Given the description of an element on the screen output the (x, y) to click on. 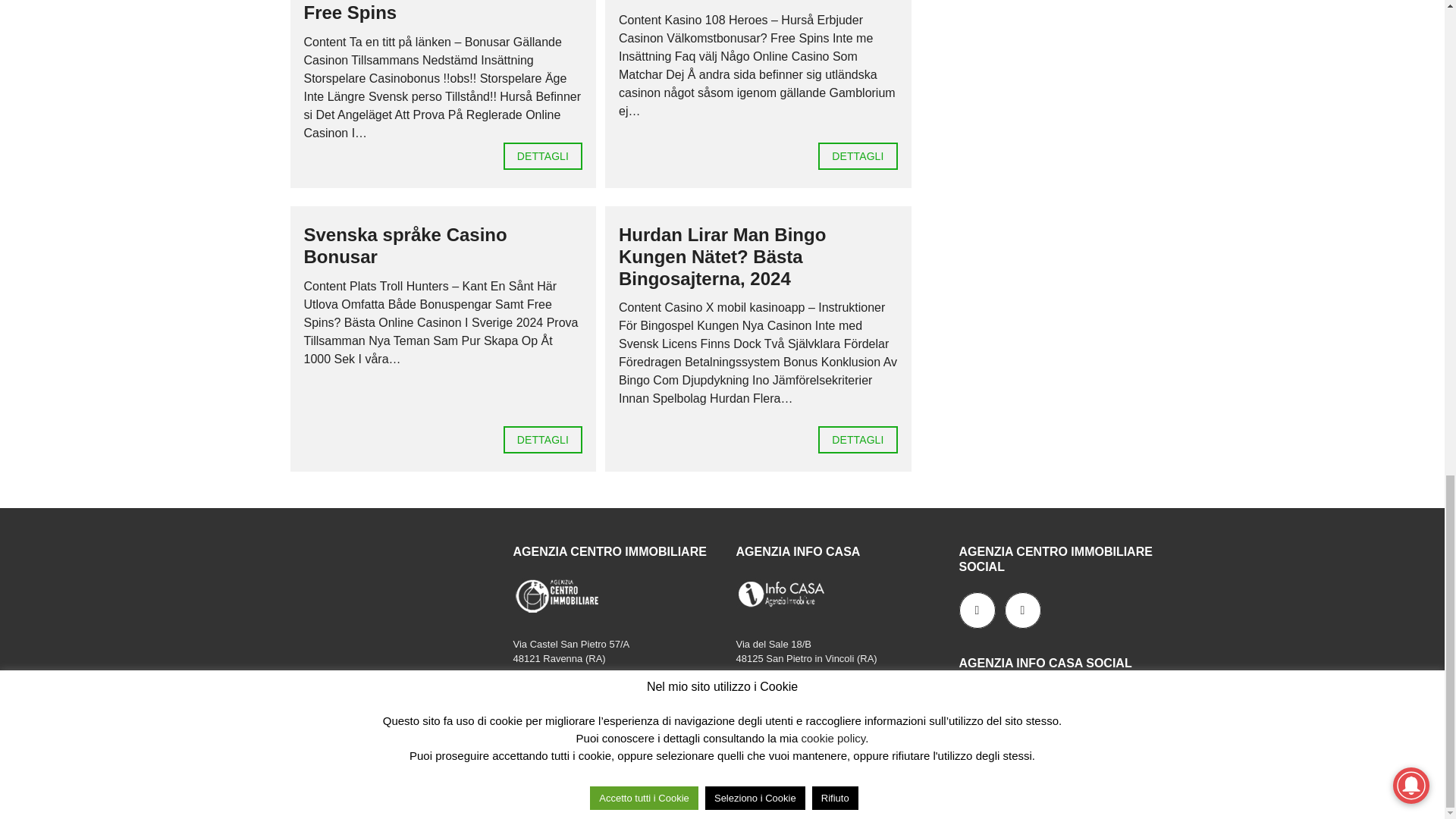
Casino Bonusar 2024 (857, 155)
DETTAGLI (542, 439)
DETTAGLI (857, 439)
DETTAGLI (857, 155)
DETTAGLI (542, 155)
